Given the description of an element on the screen output the (x, y) to click on. 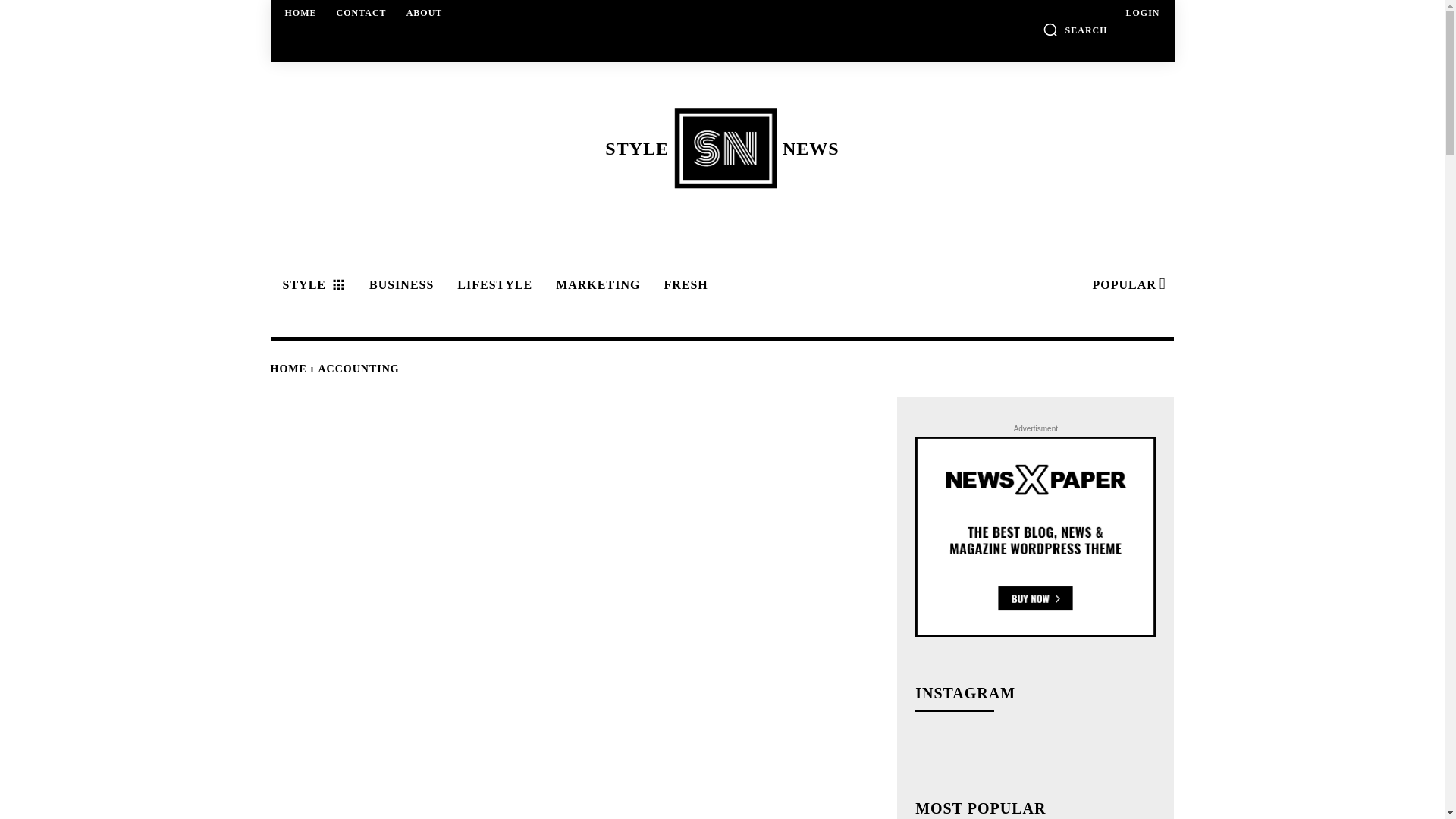
LIFESTYLE (492, 285)
POPULAR (1126, 285)
FRESH (682, 285)
ABOUT (423, 12)
LOGIN (1141, 12)
HOME (721, 148)
SEARCH (301, 12)
STYLE (1075, 29)
BUSINESS (310, 285)
CONTACT (398, 285)
View all posts in Accounting (361, 12)
MARKETING (358, 368)
